Given the description of an element on the screen output the (x, y) to click on. 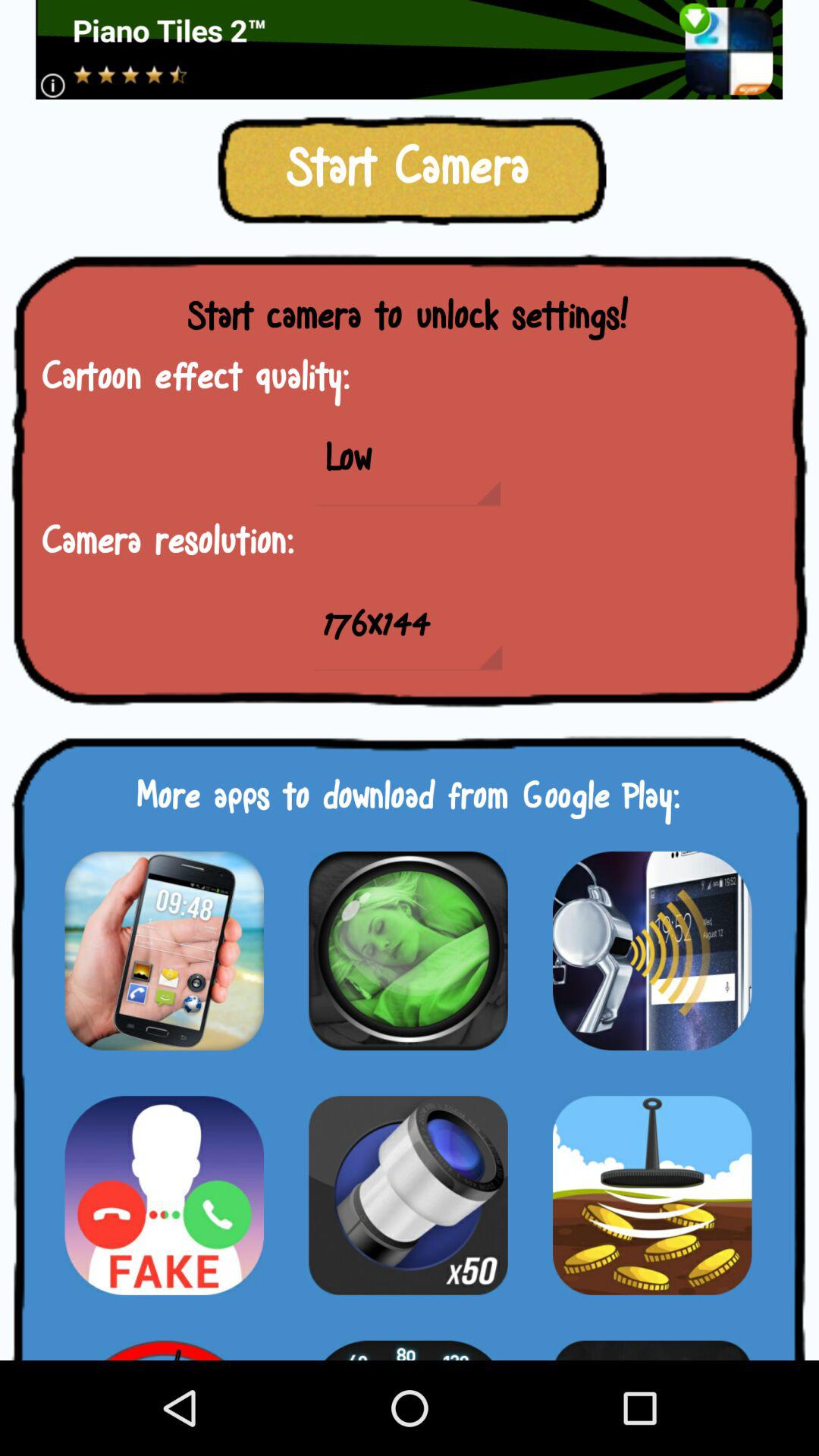
select the caution option (164, 1195)
